Given the description of an element on the screen output the (x, y) to click on. 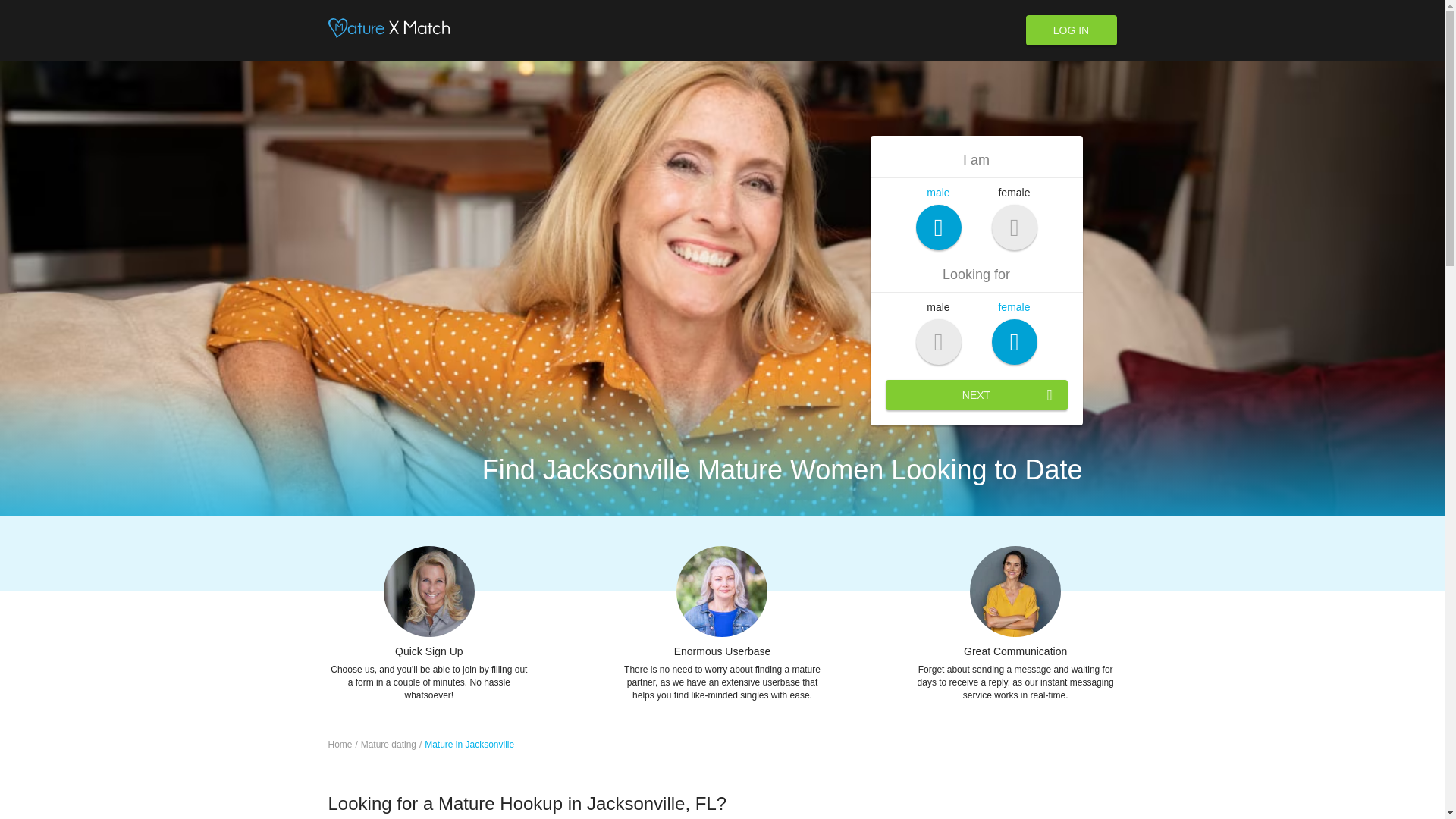
LOG IN (1070, 30)
NEXT (976, 395)
Mature dating (388, 744)
Home (339, 744)
